Given the description of an element on the screen output the (x, y) to click on. 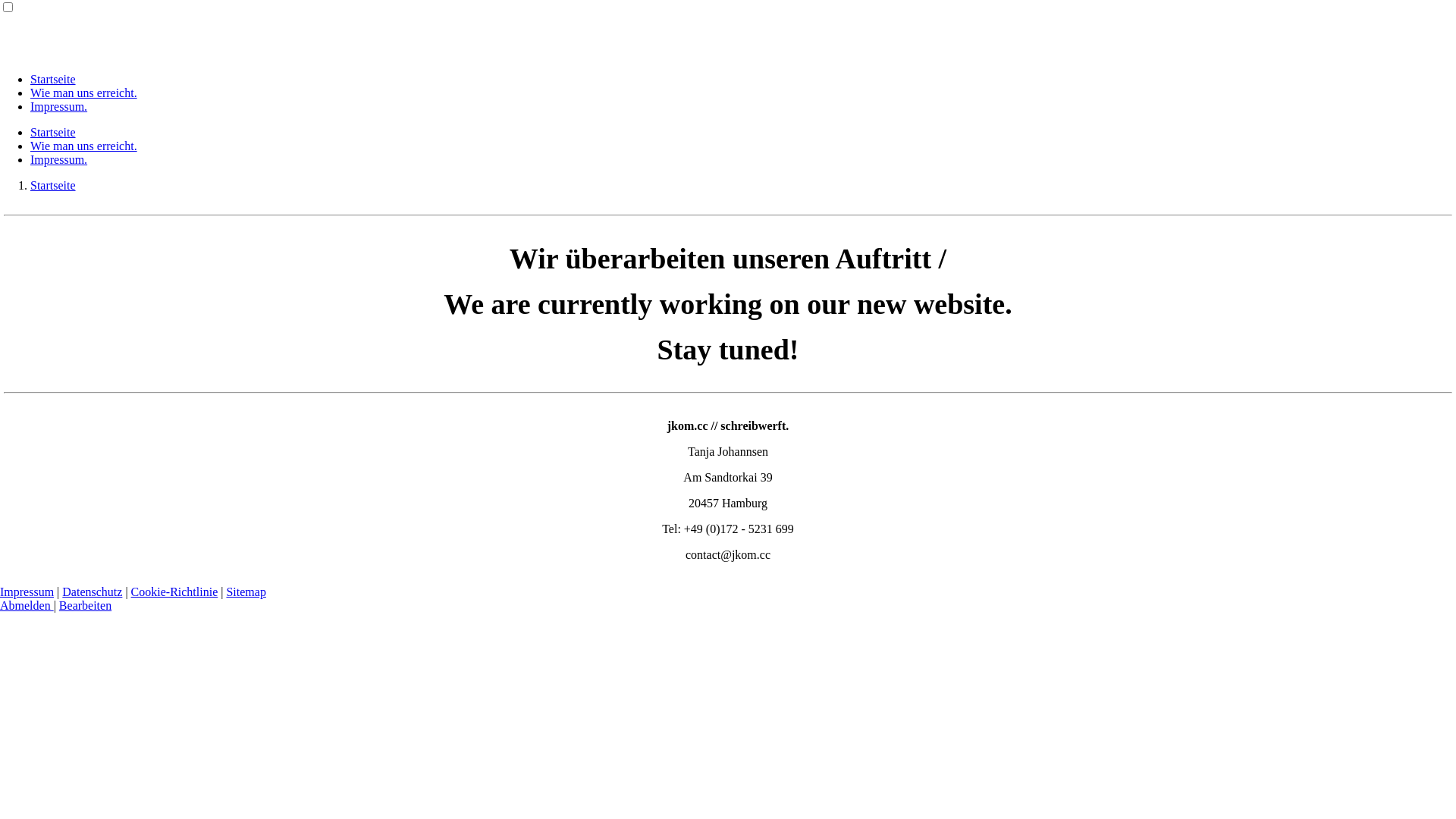
Impressum. Element type: text (58, 159)
Bearbeiten Element type: text (85, 605)
Sitemap Element type: text (245, 591)
Impressum Element type: text (26, 591)
Cookie-Richtlinie Element type: text (174, 591)
Startseite Element type: text (52, 184)
Impressum. Element type: text (58, 106)
Abmelden Element type: text (26, 605)
Startseite Element type: text (52, 78)
Datenschutz Element type: text (92, 591)
Wie man uns erreicht. Element type: text (83, 145)
Startseite Element type: text (52, 131)
Wie man uns erreicht. Element type: text (83, 92)
